Given the description of an element on the screen output the (x, y) to click on. 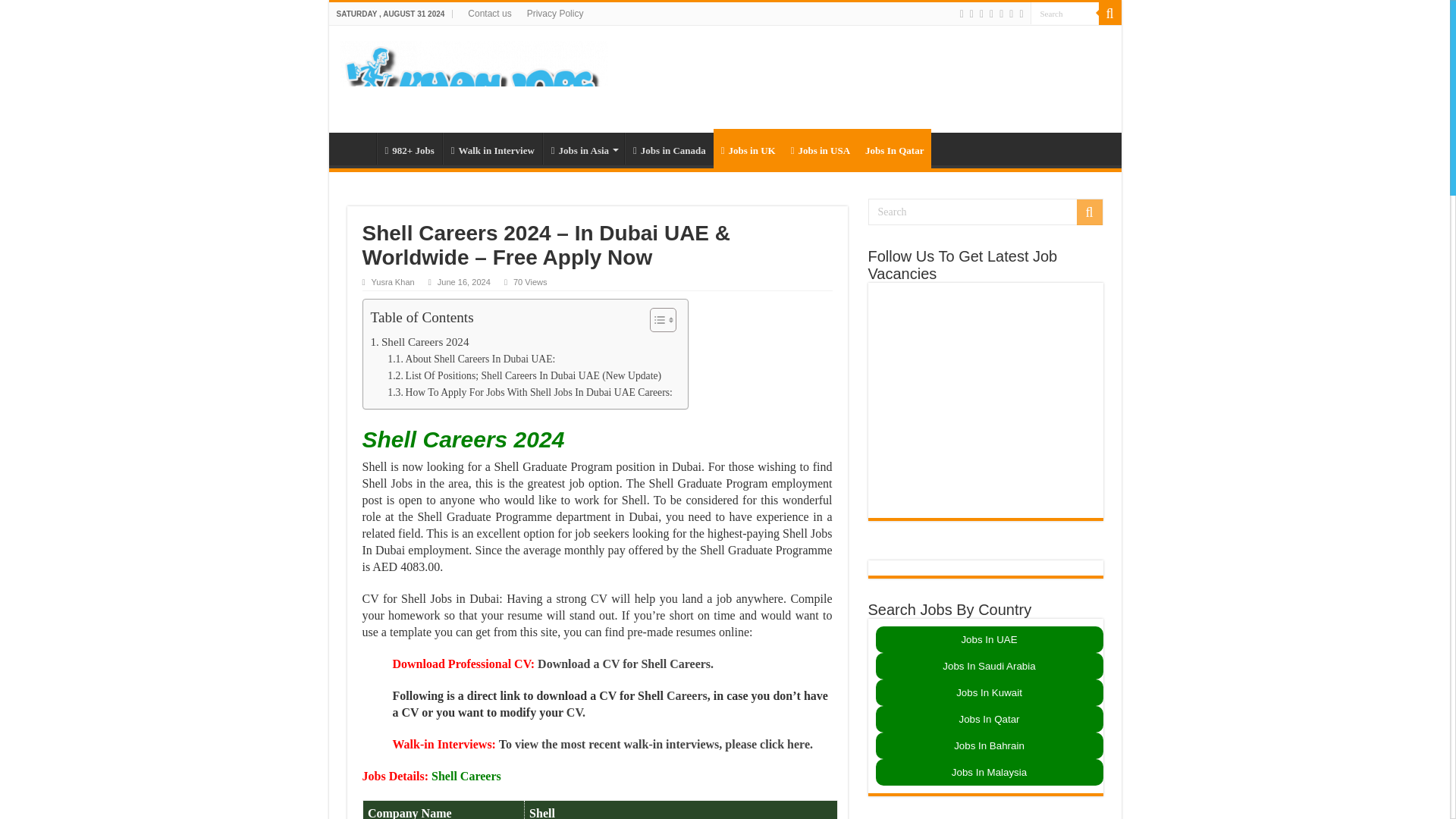
Jobs in UK (748, 148)
Download a CV for Shell Careers. (625, 663)
Search (1063, 13)
Search (1109, 13)
Search (1063, 13)
How To Apply For Jobs With Shell Jobs In Dubai UAE Careers: (529, 392)
Jobs In Qatar (894, 148)
Jobs in USA (820, 148)
Privacy Policy (555, 13)
Walk in Interview (491, 148)
